Given the description of an element on the screen output the (x, y) to click on. 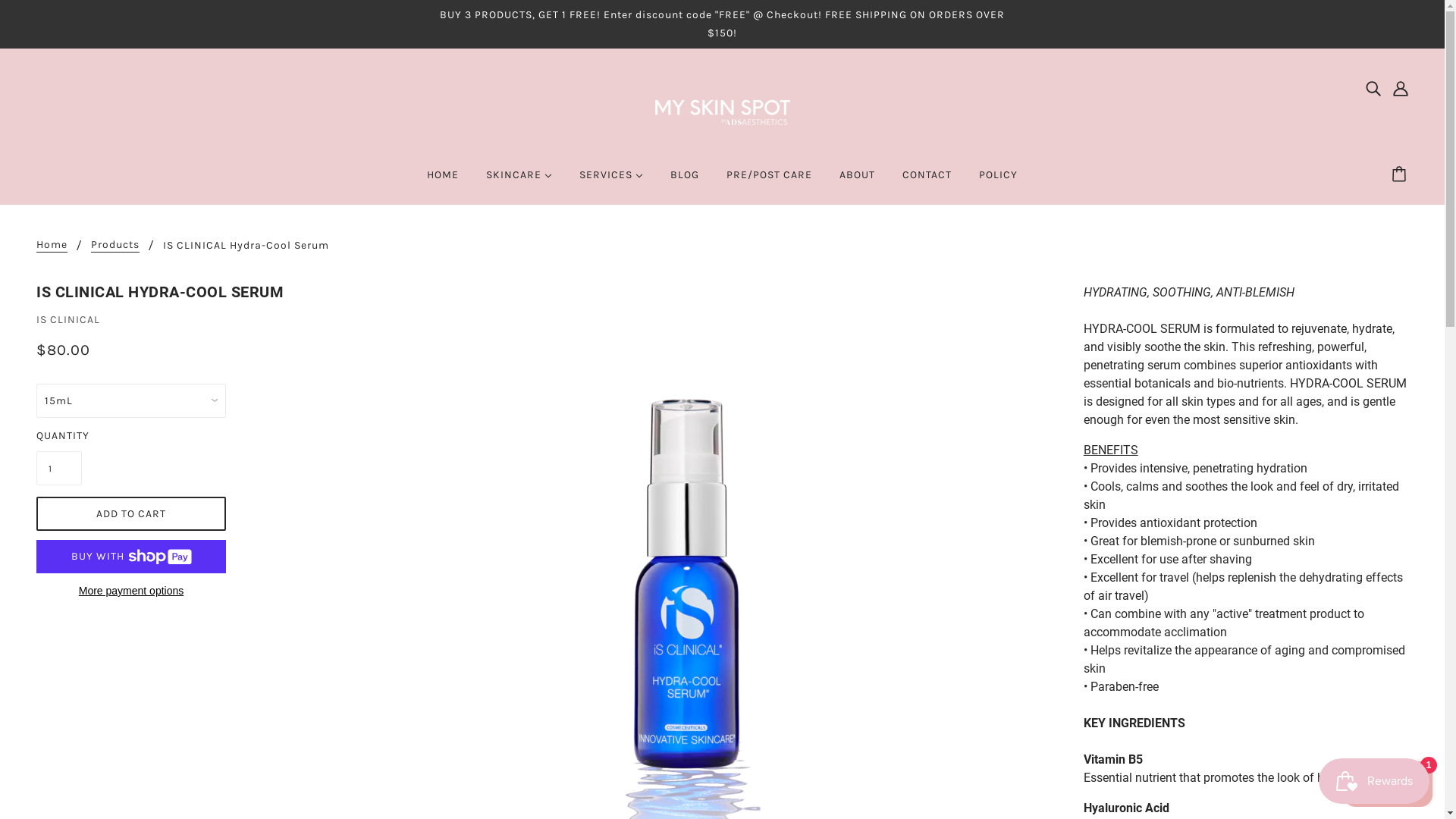
Products Element type: text (115, 245)
More payment options Element type: text (130, 590)
MY SKIN SPOT Element type: hover (722, 107)
CONTACT Element type: text (926, 180)
Home Element type: text (51, 245)
PRE/POST CARE Element type: text (769, 180)
ABOUT Element type: text (857, 180)
SERVICES Element type: text (611, 180)
Smile.io Rewards Program Launcher Element type: hover (1373, 780)
HOME Element type: text (442, 180)
Shopify online store chat Element type: hover (1388, 780)
POLICY Element type: text (997, 180)
SKINCARE Element type: text (518, 180)
IS CLINICAL Element type: text (68, 319)
ADD TO CART Element type: text (130, 513)
BLOG Element type: text (684, 180)
